Given the description of an element on the screen output the (x, y) to click on. 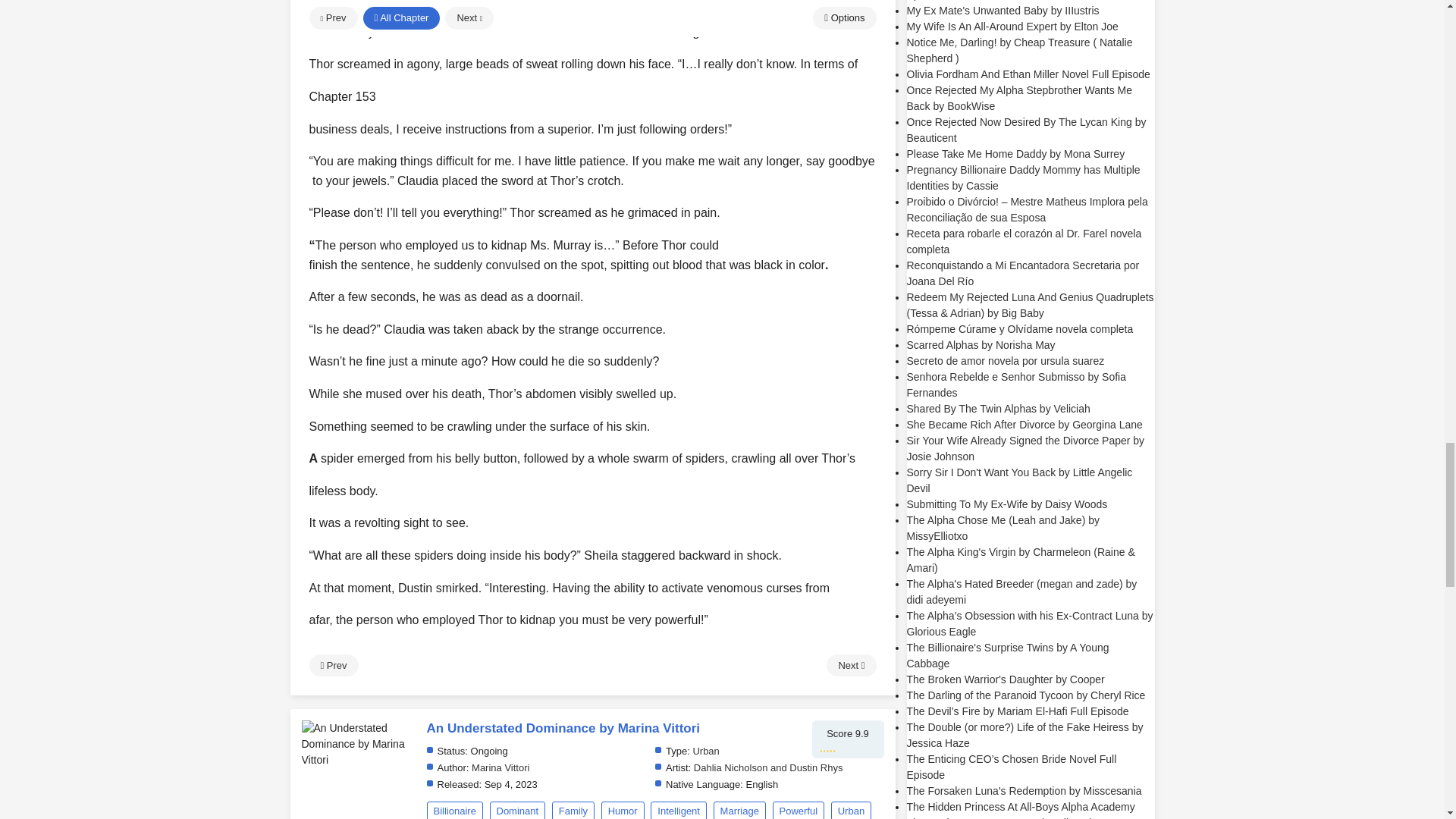
Billionaire (453, 810)
Marina Vittori (500, 767)
Urban (850, 810)
Dominant (517, 810)
Powerful (799, 810)
Humor (623, 810)
Urban (706, 750)
Next (851, 665)
An Understated Dominance by Marina Vittori (357, 744)
Intelligent (678, 810)
Prev (333, 665)
Dahlia Nicholson and Dustin Rhys (768, 767)
Family (572, 810)
Marriage (739, 810)
